Given the description of an element on the screen output the (x, y) to click on. 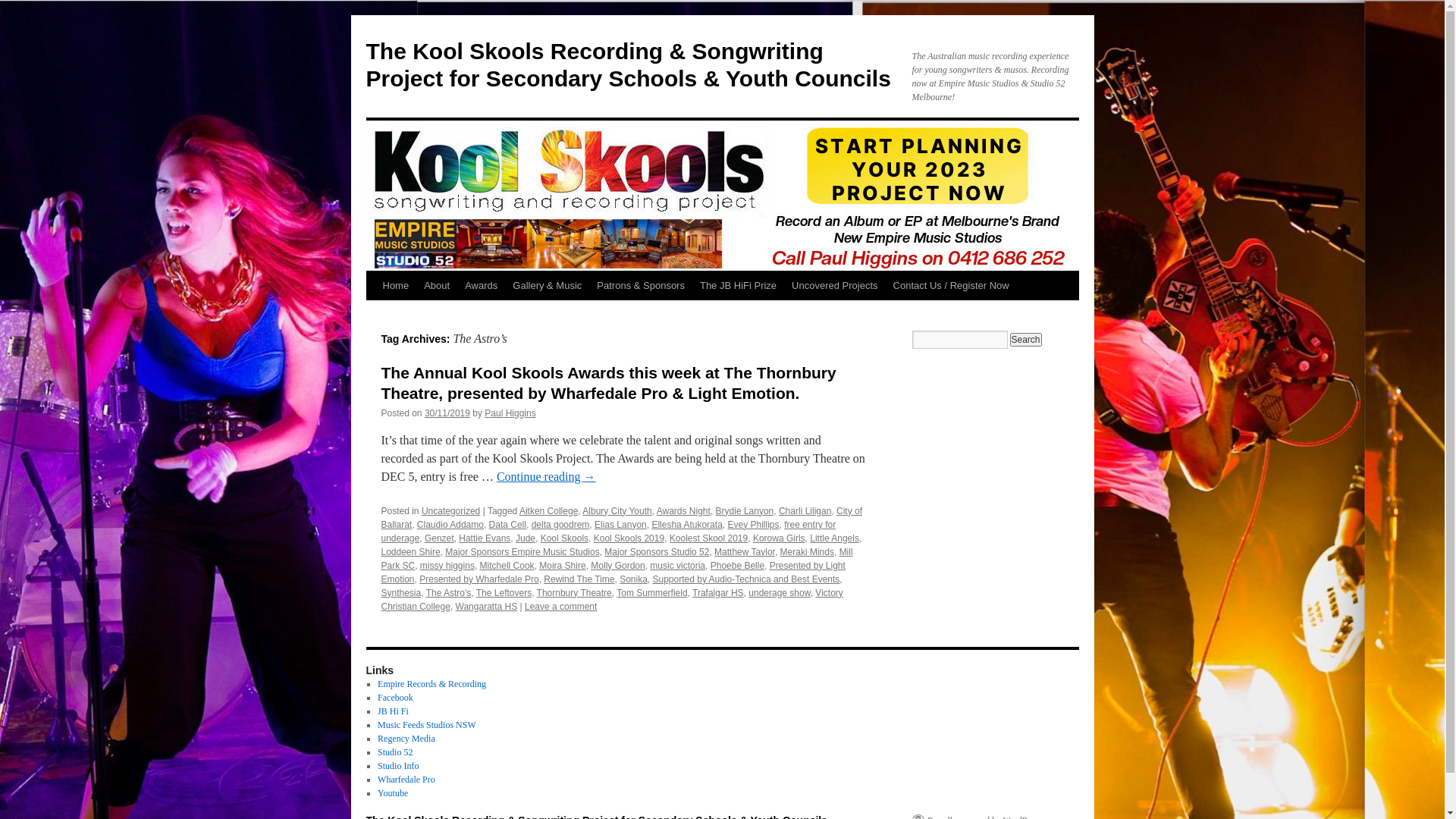
Albury City Youth Element type: text (616, 510)
Awards Element type: text (481, 285)
Presented by Wharfedale Pro Element type: text (478, 579)
Brydie Lanyon Element type: text (744, 510)
Empire Records & Recording Element type: text (431, 683)
free entry for underage Element type: text (607, 531)
Contact Us / Register Now Element type: text (950, 285)
Patrons & Sponsors Element type: text (640, 285)
Gallery & Music Element type: text (547, 285)
Evey Phillips Element type: text (752, 524)
The Leftovers Element type: text (503, 592)
Leave a comment Element type: text (560, 606)
Awards Night Element type: text (683, 510)
Tom Summerfield Element type: text (651, 592)
Major Sponsors Studio 52 Element type: text (656, 551)
Wangaratta HS Element type: text (486, 606)
Matthew Taylor Element type: text (744, 551)
Paul Higgins Element type: text (509, 412)
Elias Lanyon Element type: text (620, 524)
Claudio Addamo Element type: text (450, 524)
Little Angels Element type: text (834, 538)
Charli Liligan Element type: text (804, 510)
Search Element type: text (1025, 339)
delta goodrem Element type: text (560, 524)
Music Feeds Studios NSW Element type: text (426, 724)
Facebook Element type: text (395, 697)
Phoebe Belle Element type: text (737, 565)
Ellesha Atukorata Element type: text (686, 524)
Supported by Audio-Technica and Best Events Element type: text (745, 579)
Data Cell Element type: text (507, 524)
Major Sponsors Empire Music Studios Element type: text (522, 551)
Victory Christian College Element type: text (611, 599)
JB Hi Fi Element type: text (392, 711)
Molly Gordon Element type: text (617, 565)
Uncovered Projects Element type: text (834, 285)
Skip to content Element type: text (372, 313)
Moira Shire Element type: text (562, 565)
underage show Element type: text (778, 592)
Wharfedale Pro Element type: text (406, 779)
Uncategorized Element type: text (450, 510)
About Element type: text (436, 285)
30/11/2019 Element type: text (447, 412)
The Astro's Element type: text (448, 592)
Aitken College Element type: text (548, 510)
Trafalgar HS Element type: text (717, 592)
Genzet Element type: text (439, 538)
Studio Info Element type: text (397, 765)
Studio 52 Element type: text (394, 751)
music victoria Element type: text (677, 565)
Rewind The Time Element type: text (578, 579)
Presented by Light Emotion Element type: text (612, 572)
Thornbury Theatre Element type: text (573, 592)
Regency Media Element type: text (406, 738)
Youtube Element type: text (392, 792)
Loddeen Shire Element type: text (409, 551)
Home Element type: text (395, 285)
missy higgins Element type: text (447, 565)
Korowa Girls Element type: text (779, 538)
Synthesia Element type: text (400, 592)
Kool Skools 2019 Element type: text (628, 538)
City of Ballarat Element type: text (621, 517)
The JB HiFi Prize Element type: text (738, 285)
Meraki Minds Element type: text (807, 551)
Mill Park SC Element type: text (616, 558)
Jude Element type: text (525, 538)
Hattie Evans Element type: text (484, 538)
Koolest Skool 2019 Element type: text (708, 538)
Sonika Element type: text (633, 579)
Kool Skools Element type: text (564, 538)
Mitchell Cook Element type: text (507, 565)
